Given the description of an element on the screen output the (x, y) to click on. 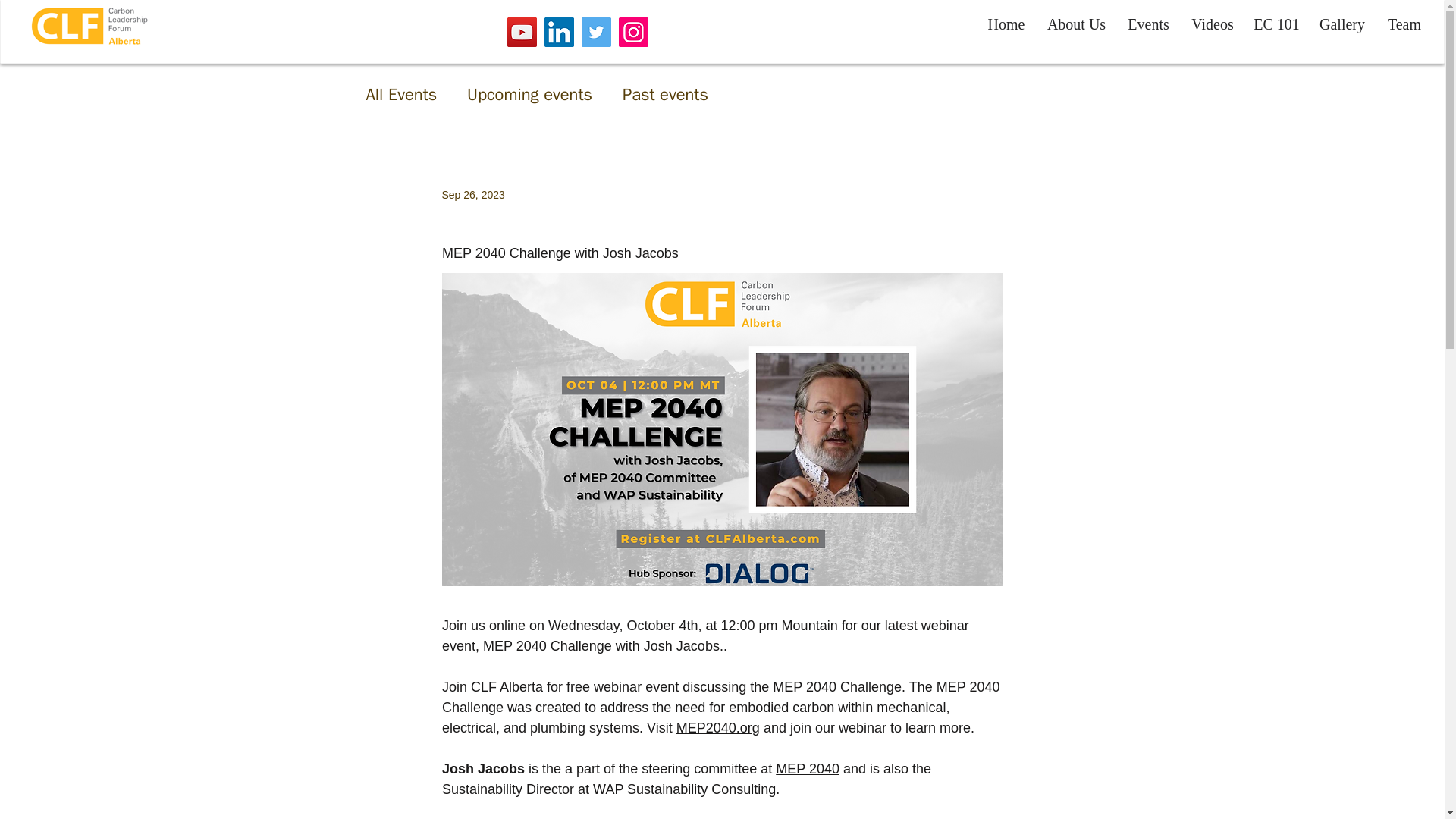
Team (1403, 24)
CLF Alberta Logo - White Square Backgrou (89, 25)
Past events (665, 94)
All Events (400, 94)
WAP Sustainability Consulting (684, 789)
MEP 2040 (808, 768)
Upcoming events (529, 94)
Events (1148, 24)
MEP2040.org (716, 727)
Home (1005, 24)
Gallery (1341, 24)
EC 101 (1276, 24)
About Us (1076, 24)
Videos (1212, 24)
Sep 26, 2023 (472, 193)
